Given the description of an element on the screen output the (x, y) to click on. 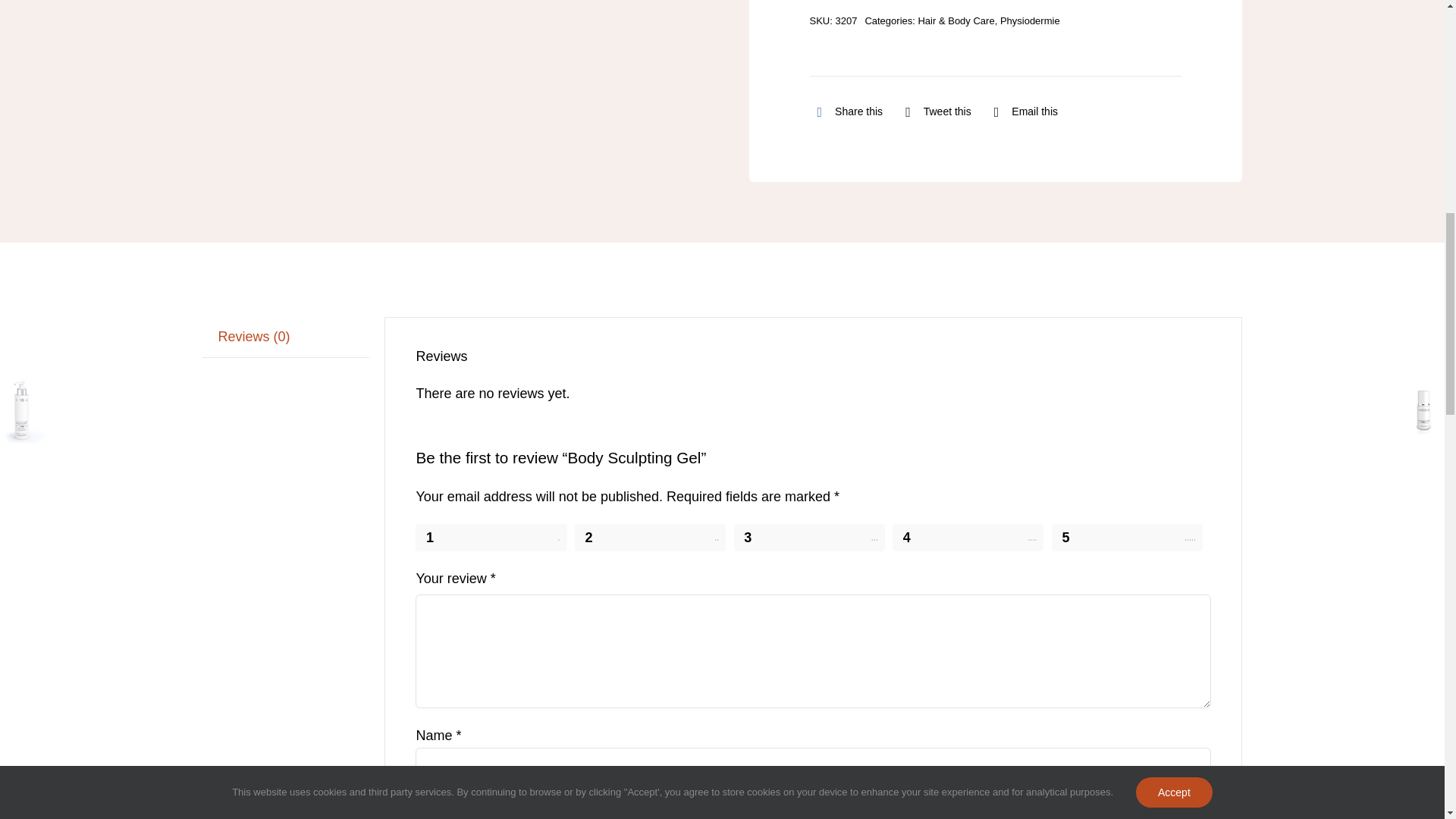
Tweet this (934, 111)
Physiodermie (1029, 20)
Email this (1022, 111)
Share this (846, 111)
